Given the description of an element on the screen output the (x, y) to click on. 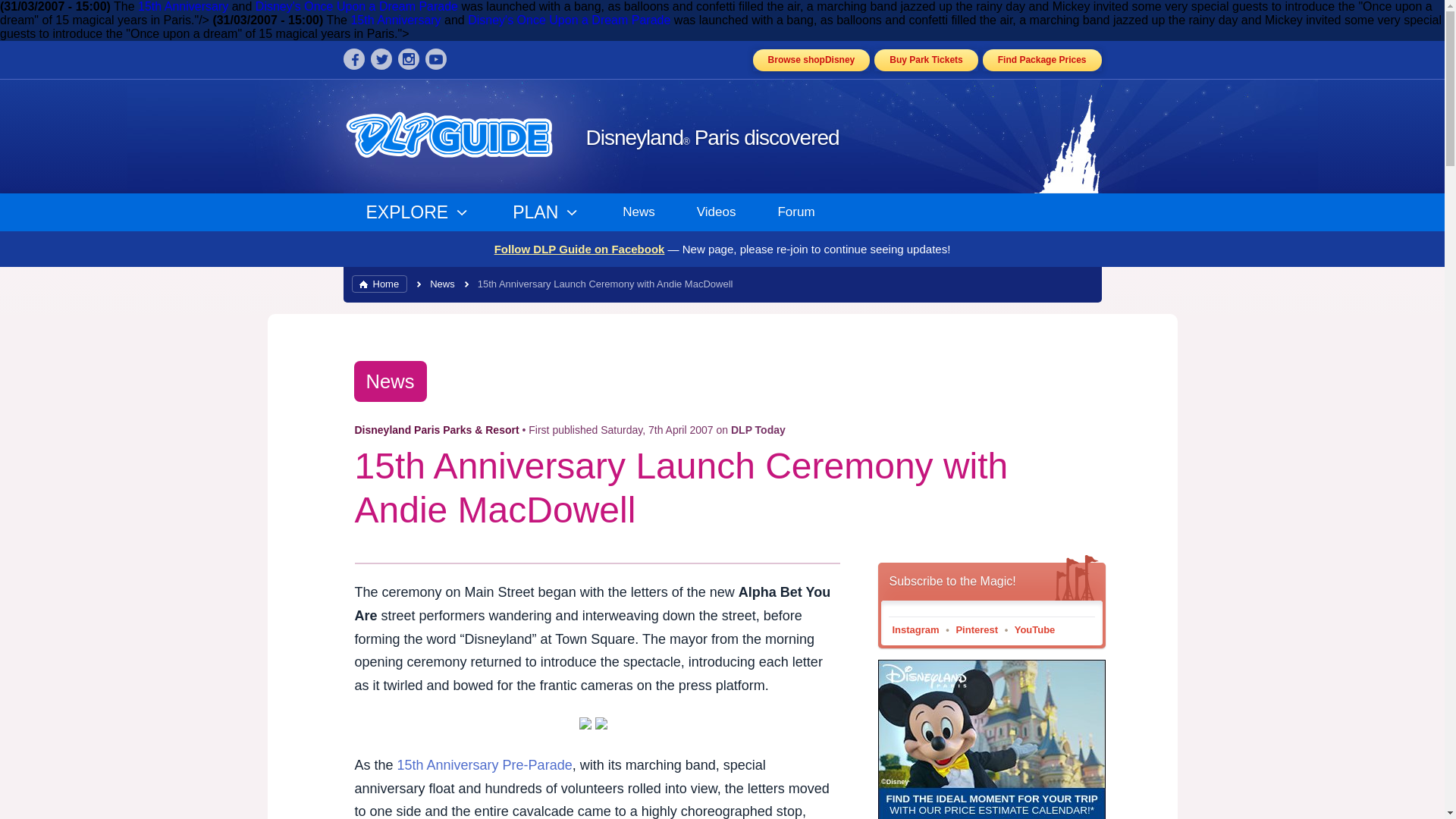
More Disneyland Paris News (389, 381)
Disney's Once Upon a Dream Parade (357, 6)
Find Package Prices (1042, 60)
News (389, 381)
DLP Guide on Instagram (408, 58)
News (441, 283)
15th Anniversary (183, 6)
Disney's Once Upon a Dream Parade (568, 19)
Official shopDisney online store (811, 60)
Follow DLP Guide on Facebook (580, 248)
